Given the description of an element on the screen output the (x, y) to click on. 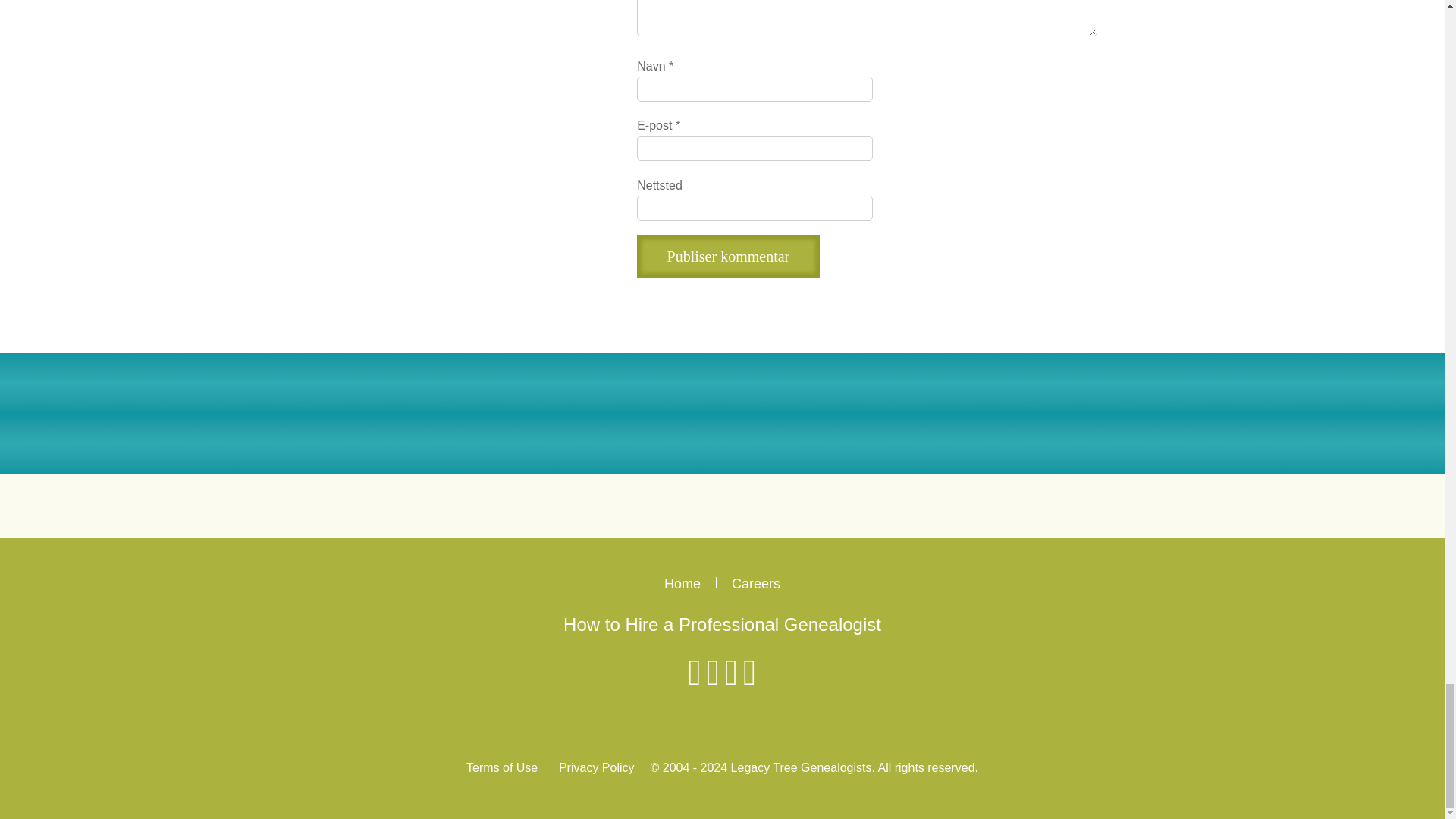
Publiser kommentar (727, 256)
Careers (756, 583)
Home (681, 583)
Publiser kommentar (727, 256)
How to Hire a Professional Genealogist (721, 624)
Privacy Policy (596, 768)
Terms of Use (501, 768)
